Given the description of an element on the screen output the (x, y) to click on. 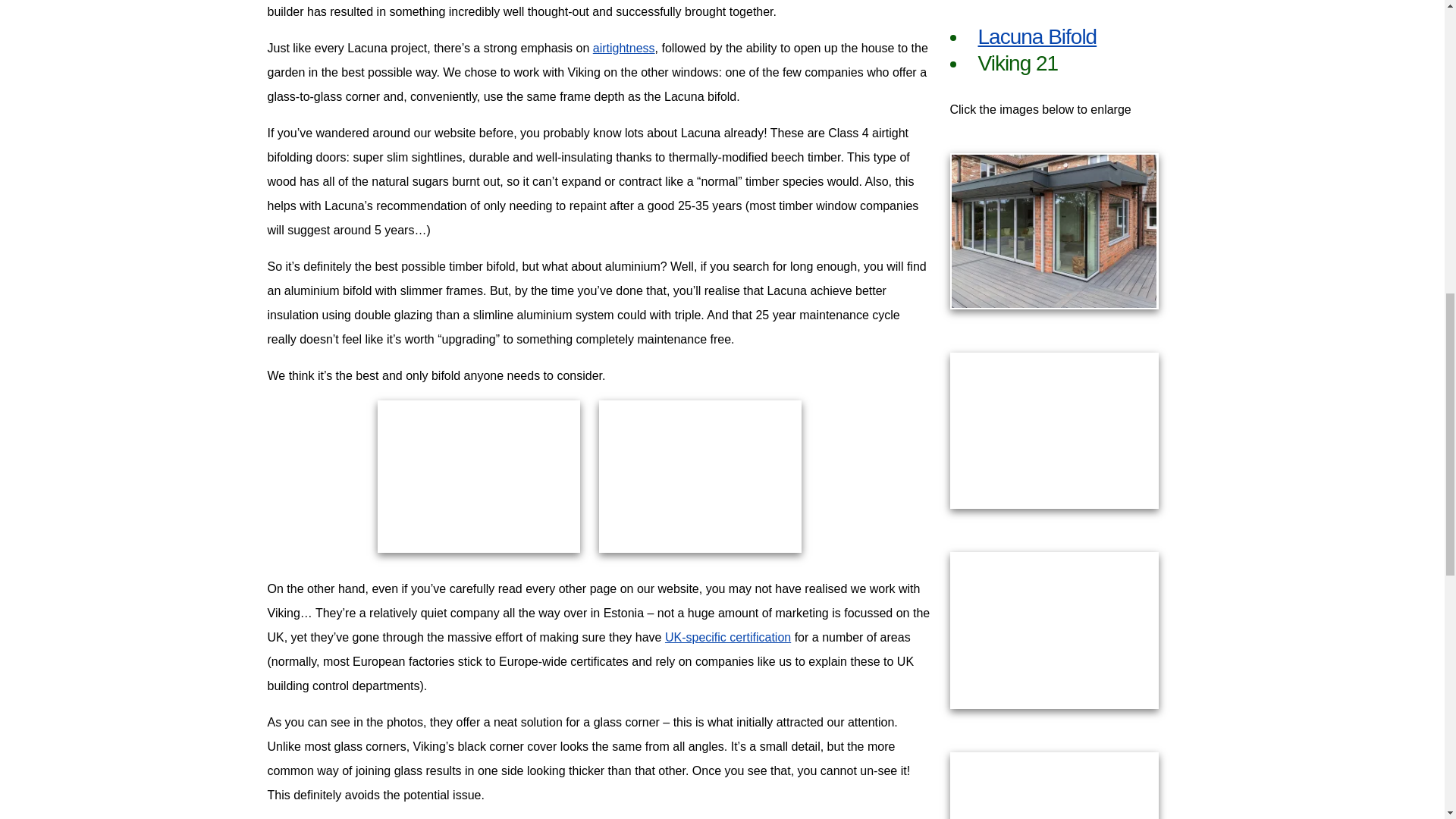
Viking guided window in RAL 7040 Window Grey (1053, 430)
5 leaf Thermally Modified Beech Lacuna Bifold Door (478, 476)
Viking 21 Aluminium clad timber Glass to glass corner Window (1053, 785)
